Given the description of an element on the screen output the (x, y) to click on. 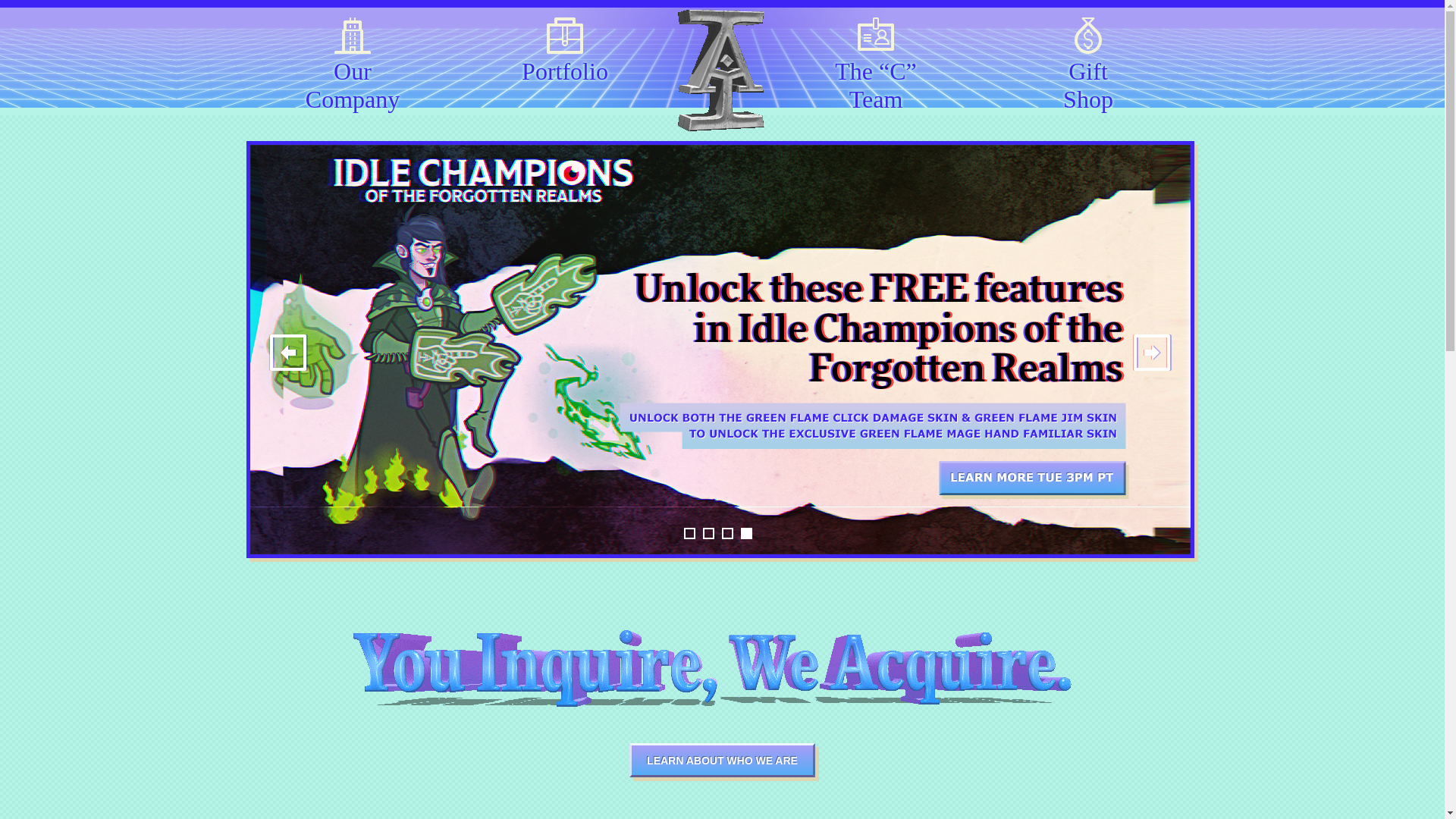
Gift Shop (1088, 62)
4 (746, 532)
Gift Shop (1088, 62)
Portfolio (564, 62)
Our Company (352, 62)
Next (1152, 352)
1 (689, 532)
Our Company (352, 62)
2 (708, 532)
LEARN ABOUT WHO WE ARE (721, 759)
Learn About Who We Are (721, 759)
3 (727, 532)
Previous (288, 352)
Portfolio (564, 62)
